Given the description of an element on the screen output the (x, y) to click on. 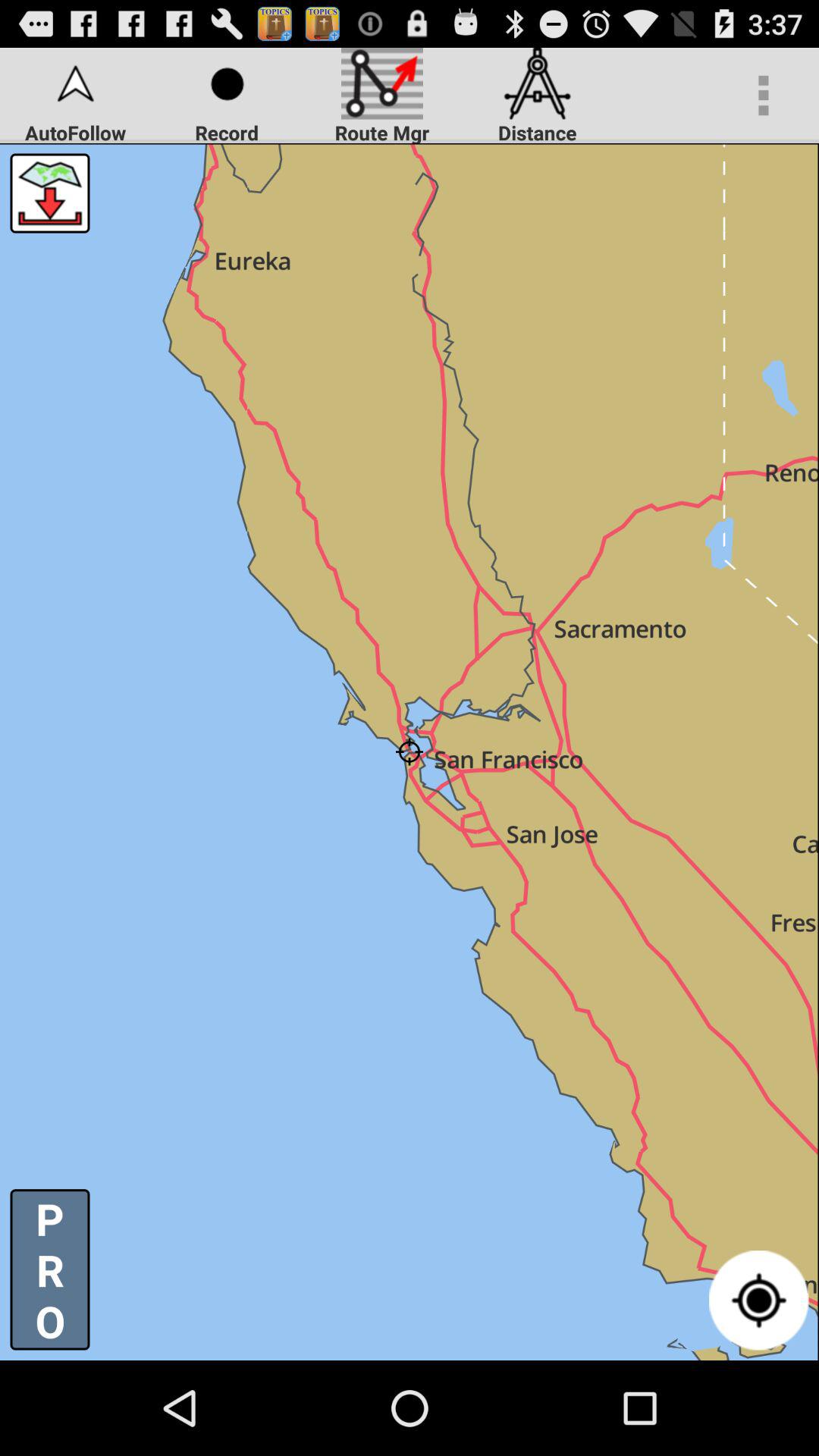
open icon to the left of record app (49, 193)
